Given the description of an element on the screen output the (x, y) to click on. 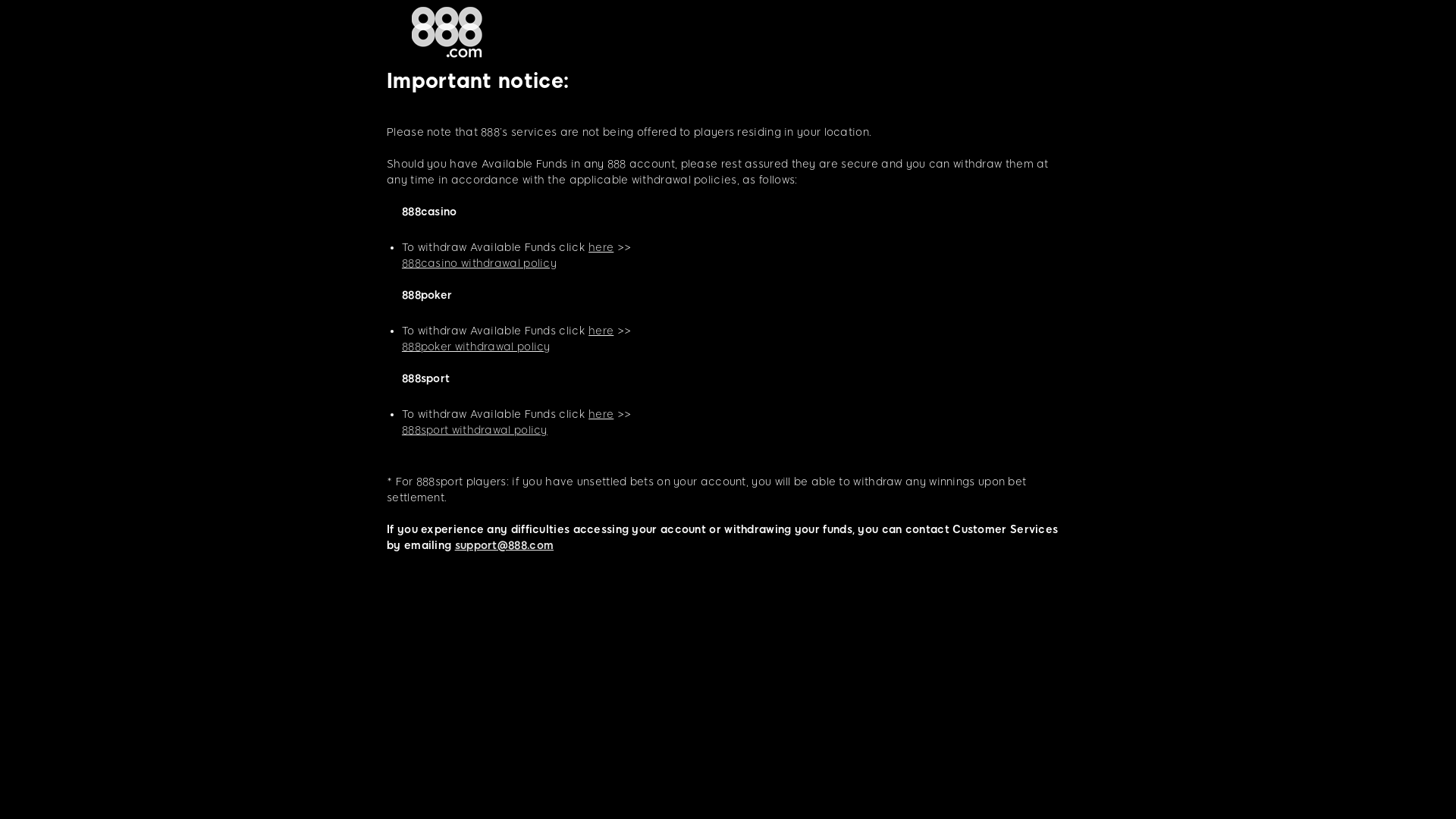
here Element type: text (600, 413)
888poker withdrawal policy Element type: text (475, 346)
support@888.com Element type: text (504, 545)
888casino withdrawal policy Element type: text (478, 263)
888sport withdrawal policy Element type: text (474, 429)
here Element type: text (600, 330)
here Element type: text (600, 247)
